Given the description of an element on the screen output the (x, y) to click on. 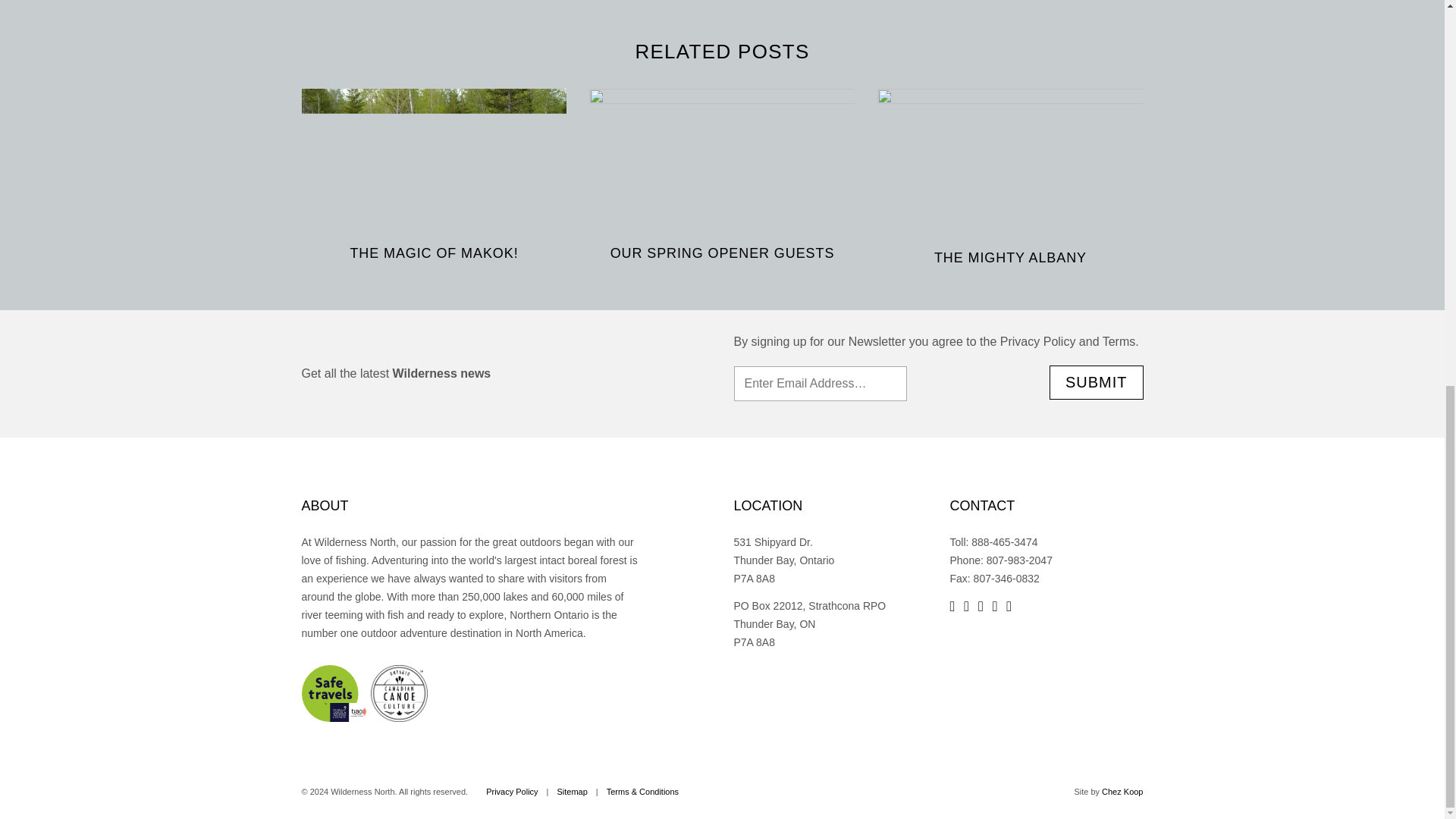
THE MIGHTY ALBANY (1010, 257)
OUR SPRING OPENER GUESTS (722, 253)
Chez Koop Design (1122, 791)
Submit (1095, 382)
Sitemap (571, 791)
Submit (1095, 382)
THE MAGIC OF MAKOK! (433, 253)
Ontario Canadian Canoe Culture (399, 692)
Privacy Policy (511, 791)
Safe Travels by TIAO (334, 692)
